Given the description of an element on the screen output the (x, y) to click on. 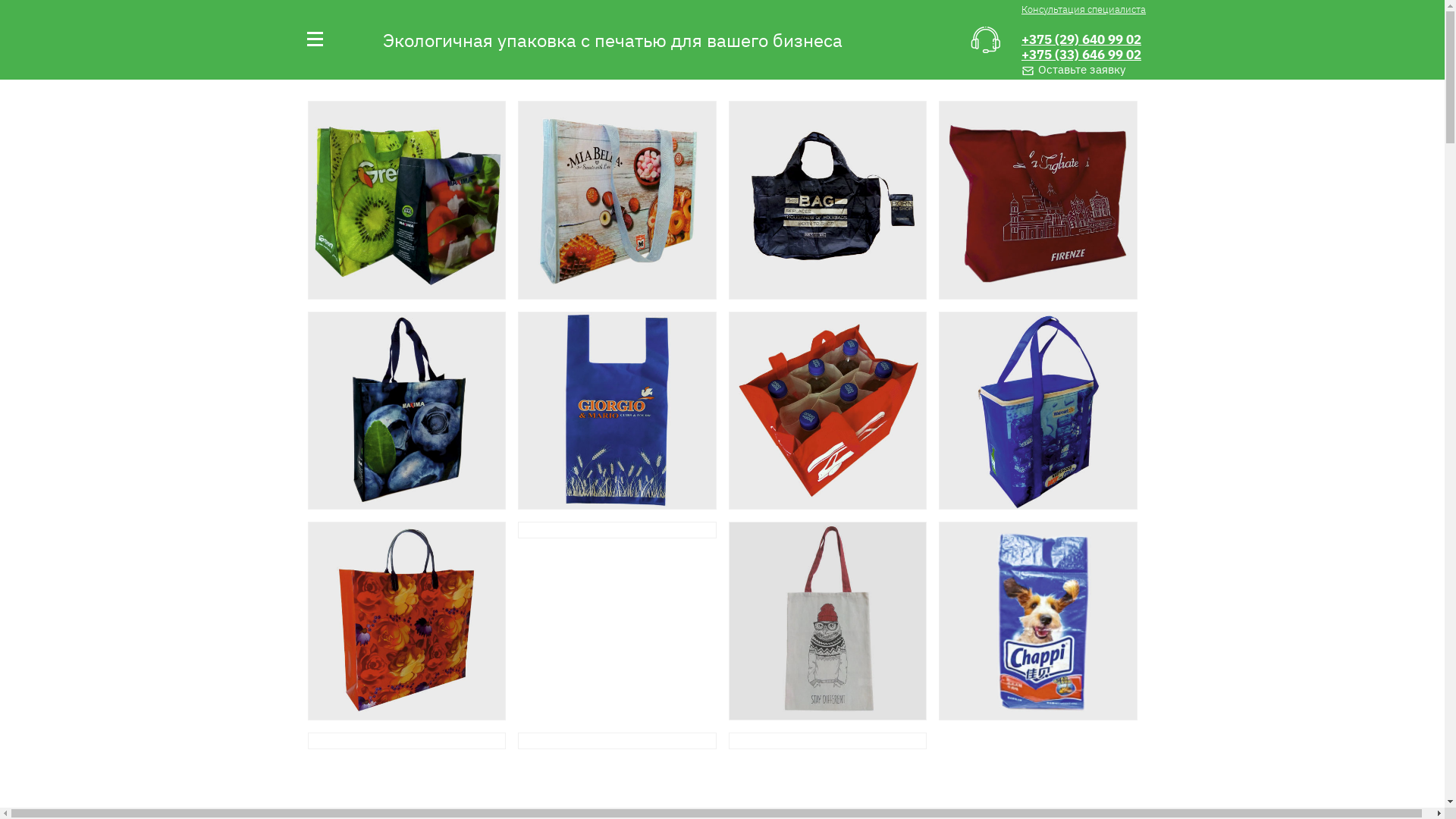
+375 (29) 640 99 02 Element type: text (1081, 39)
+375 (33) 646 99 02 Element type: text (1081, 54)
